Given the description of an element on the screen output the (x, y) to click on. 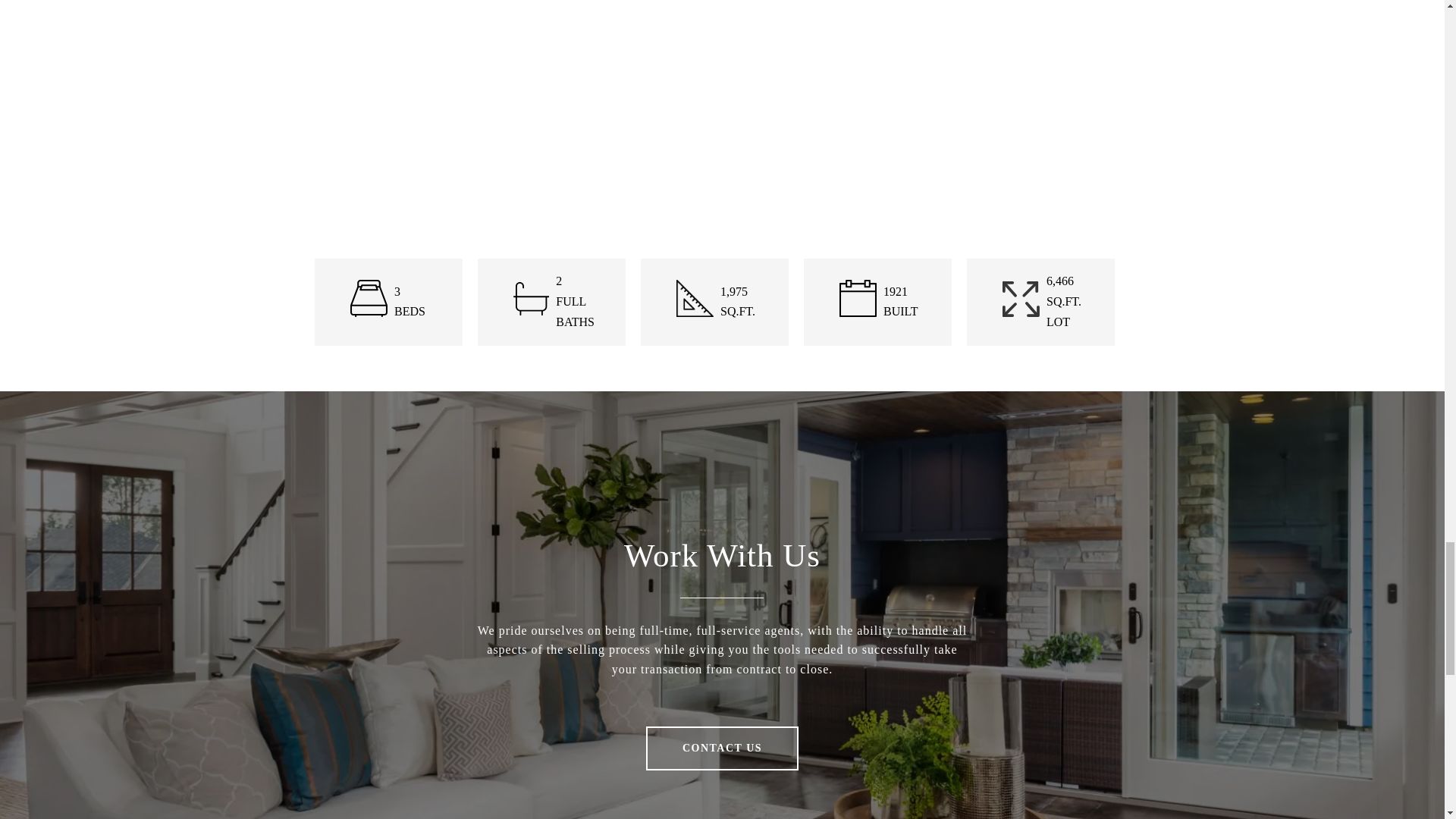
CONTACT US (721, 748)
